Given the description of an element on the screen output the (x, y) to click on. 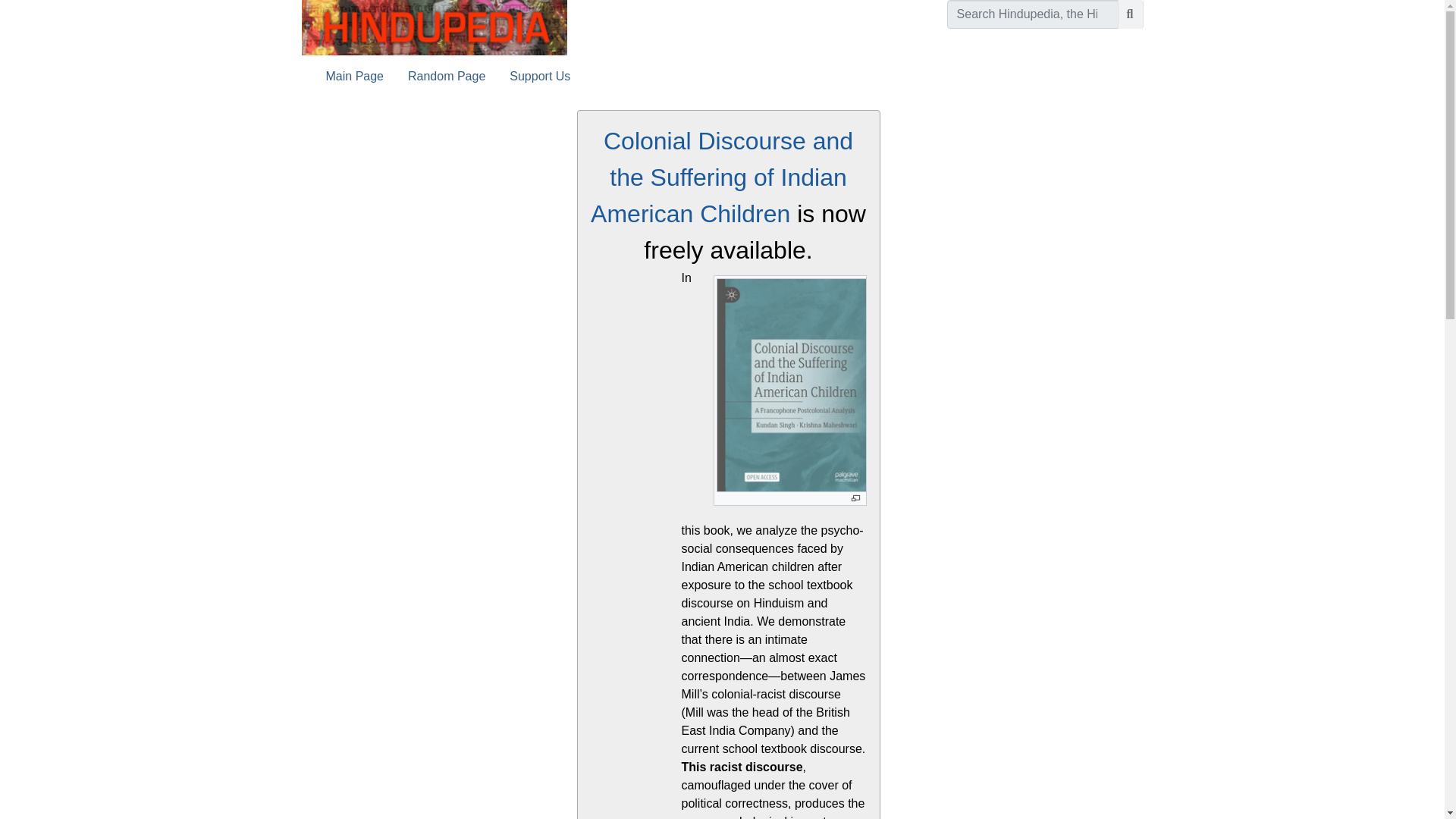
Go to a page with this exact name if it exists (1130, 14)
Support Us (539, 76)
Random Page (446, 76)
Go (1130, 14)
Main Page (355, 76)
Visit the main page (434, 26)
Enlarge (854, 498)
